Given the description of an element on the screen output the (x, y) to click on. 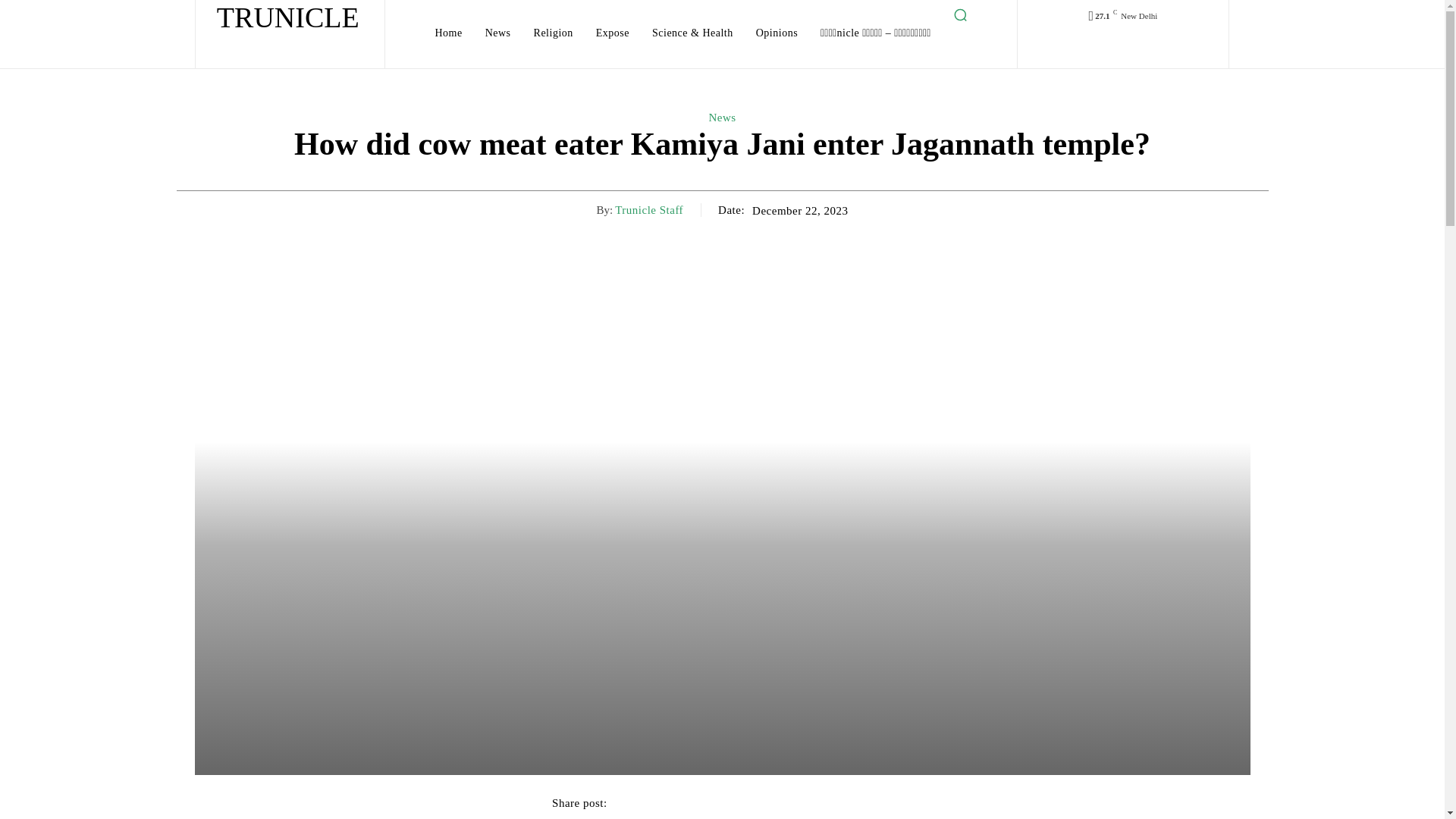
Trunicle Staff (648, 210)
Religion (552, 33)
TRUNICLE (287, 17)
Opinions (776, 33)
News (721, 117)
